Given the description of an element on the screen output the (x, y) to click on. 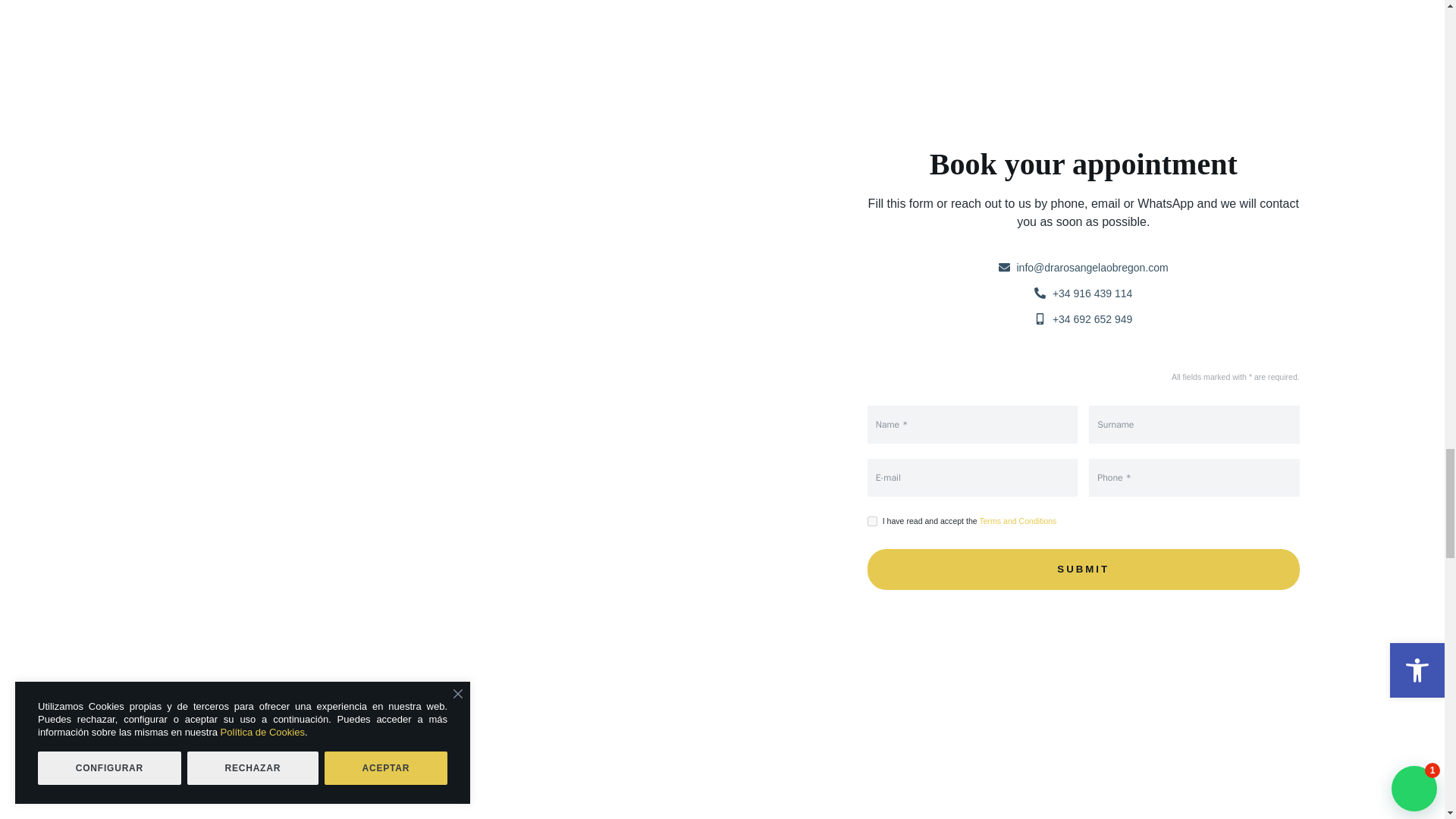
Terms and Conditions (1017, 520)
on (872, 521)
